Given the description of an element on the screen output the (x, y) to click on. 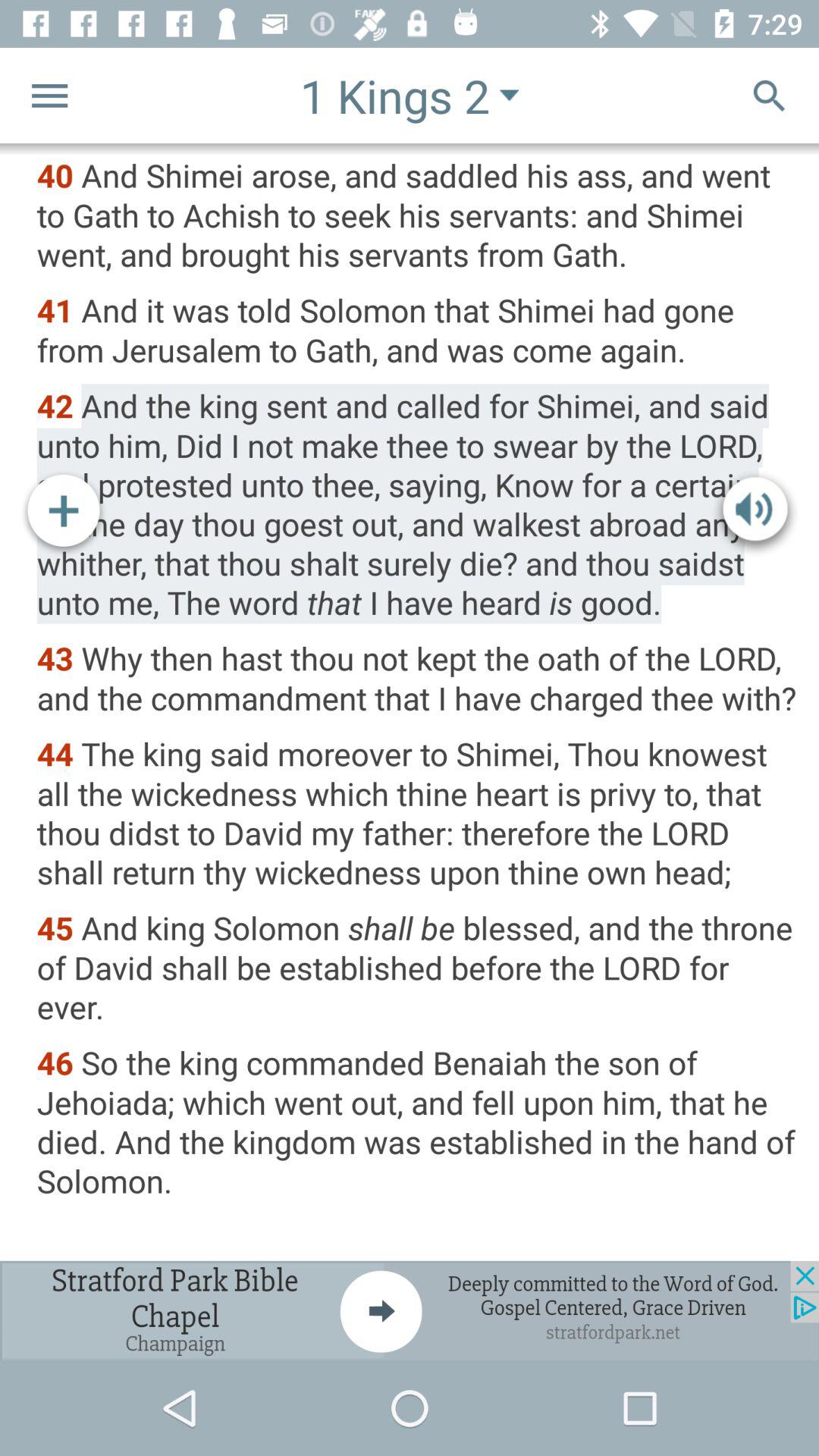
search button (769, 95)
